Given the description of an element on the screen output the (x, y) to click on. 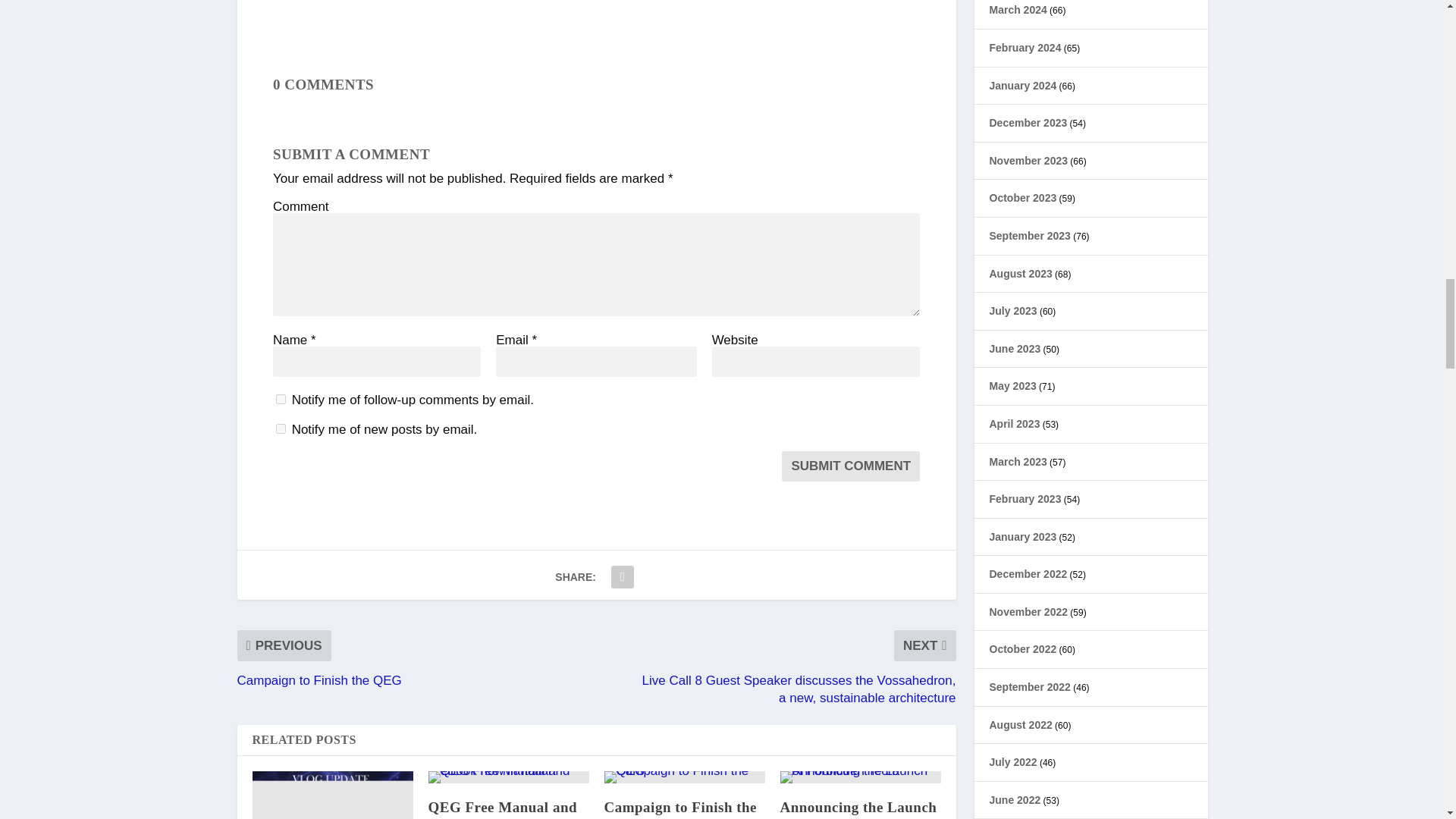
SUBMIT COMMENT (850, 466)
subscribe (280, 429)
Share "Chasing Tesla The Movie" via Print (622, 576)
Campaign to Finish the QEG (684, 776)
Announcing the Launch of Forbidden Tech! (857, 809)
Campaign to Finish the QEG (680, 809)
subscribe (280, 398)
Announcing the Launch of Forbidden Tech! (859, 776)
QEG Free Manual and eBook now in Italian (508, 776)
QEG Free Manual and eBook now in Italian (502, 809)
